Given the description of an element on the screen output the (x, y) to click on. 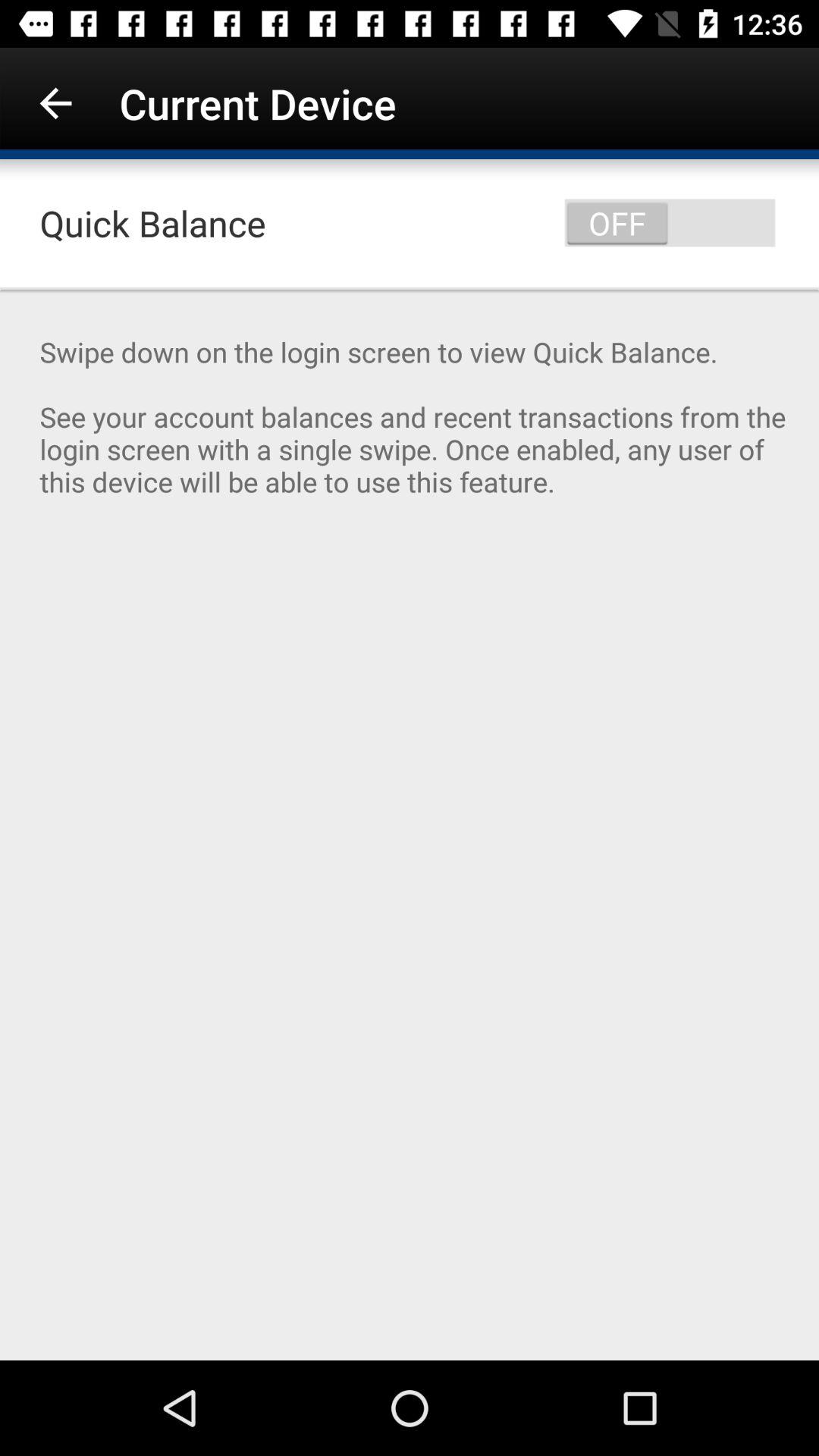
press the app next to the current device (55, 103)
